Given the description of an element on the screen output the (x, y) to click on. 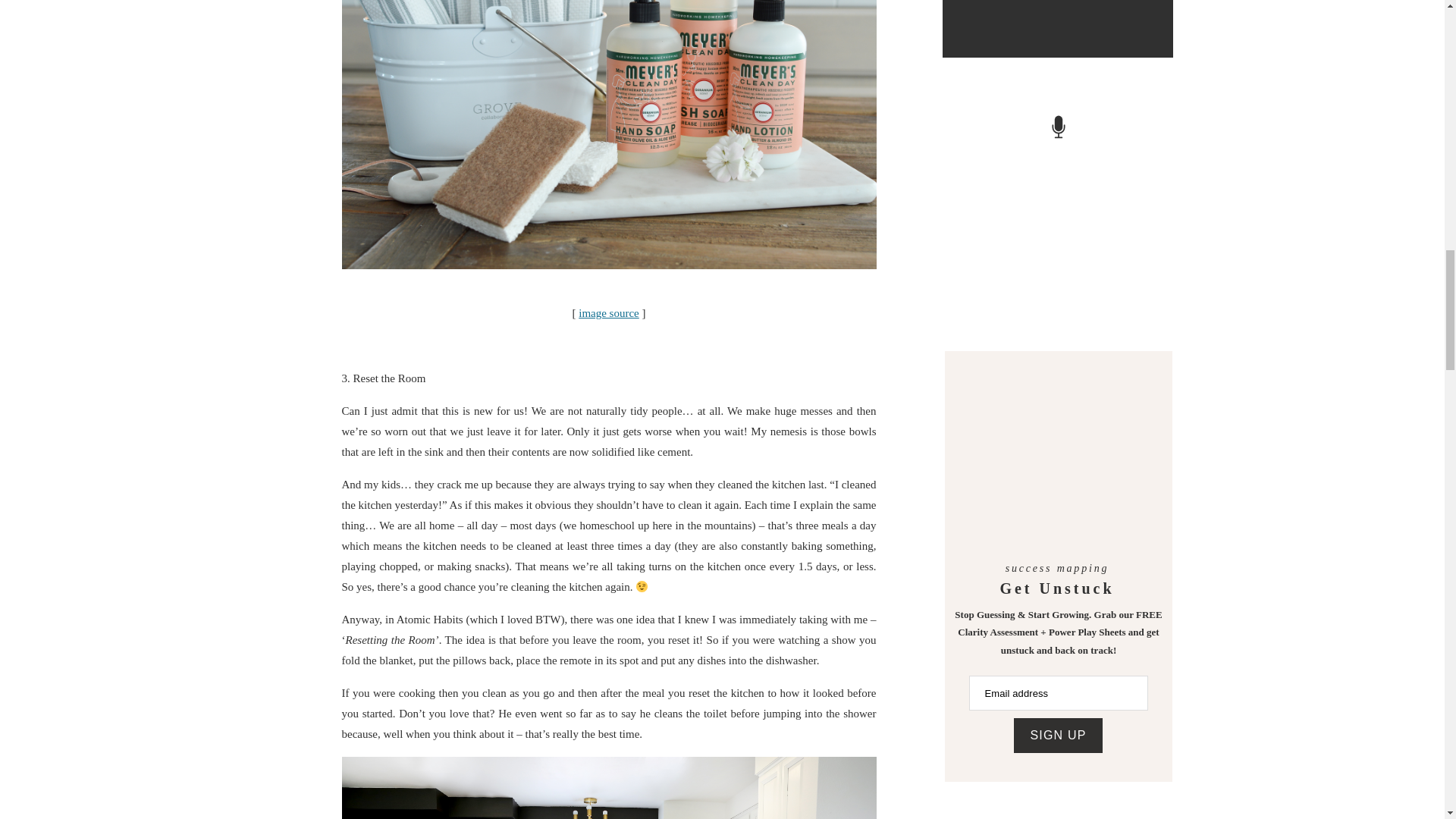
LEARN MORE (1053, 4)
SIGN UP (1057, 735)
image source (608, 313)
